Given the description of an element on the screen output the (x, y) to click on. 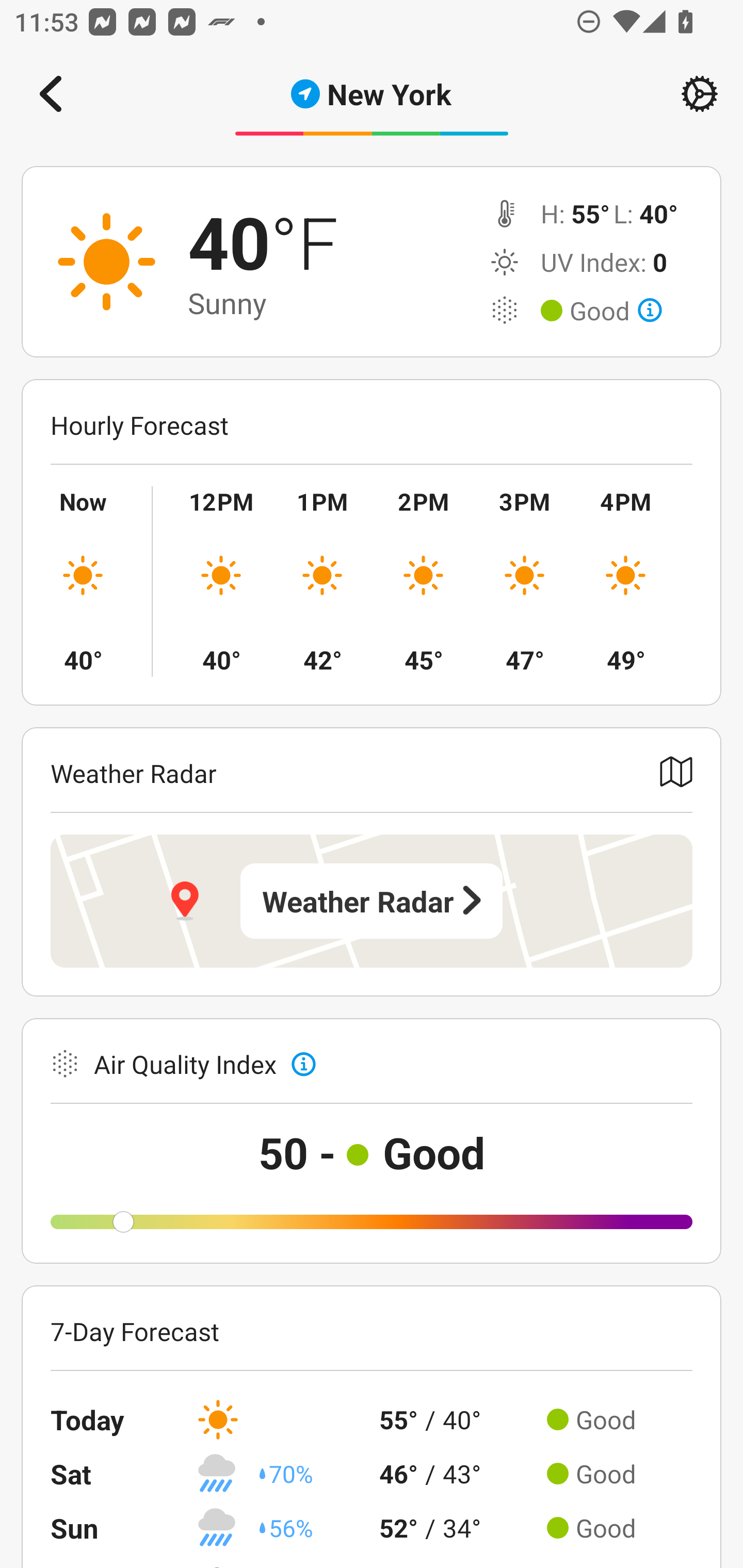
Navigate up (50, 93)
Setting (699, 93)
Good (615, 310)
Weather Radar (371, 900)
